Given the description of an element on the screen output the (x, y) to click on. 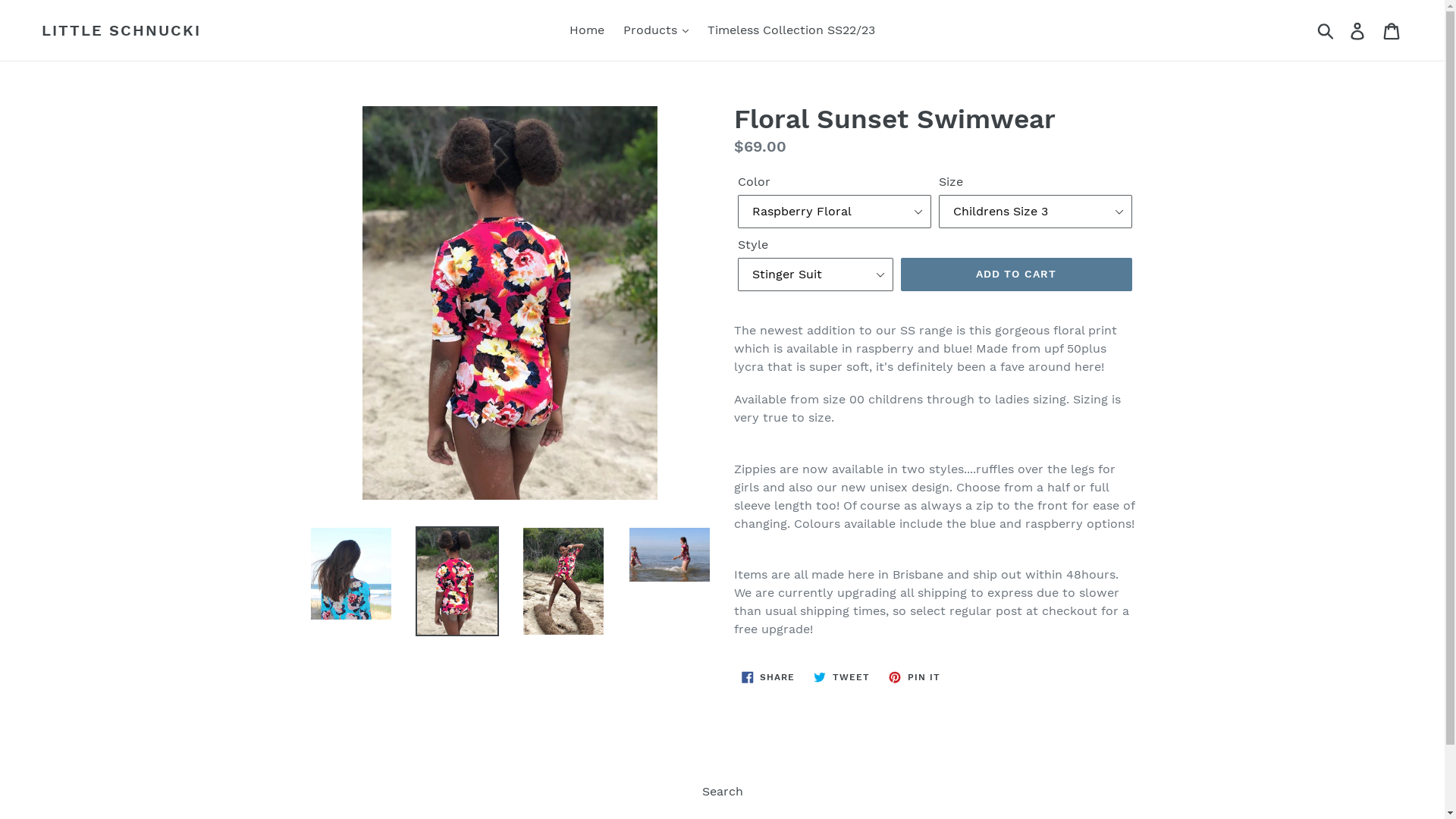
PIN IT
PIN ON PINTEREST Element type: text (914, 677)
Search Element type: text (722, 791)
Timeless Collection SS22/23 Element type: text (790, 29)
LITTLE SCHNUCKI Element type: text (120, 30)
Cart Element type: text (1392, 30)
TWEET
TWEET ON TWITTER Element type: text (841, 677)
Log in Element type: text (1358, 30)
Home Element type: text (586, 29)
Submit Element type: text (1326, 30)
SHARE
SHARE ON FACEBOOK Element type: text (768, 677)
ADD TO CART Element type: text (1016, 274)
